Given the description of an element on the screen output the (x, y) to click on. 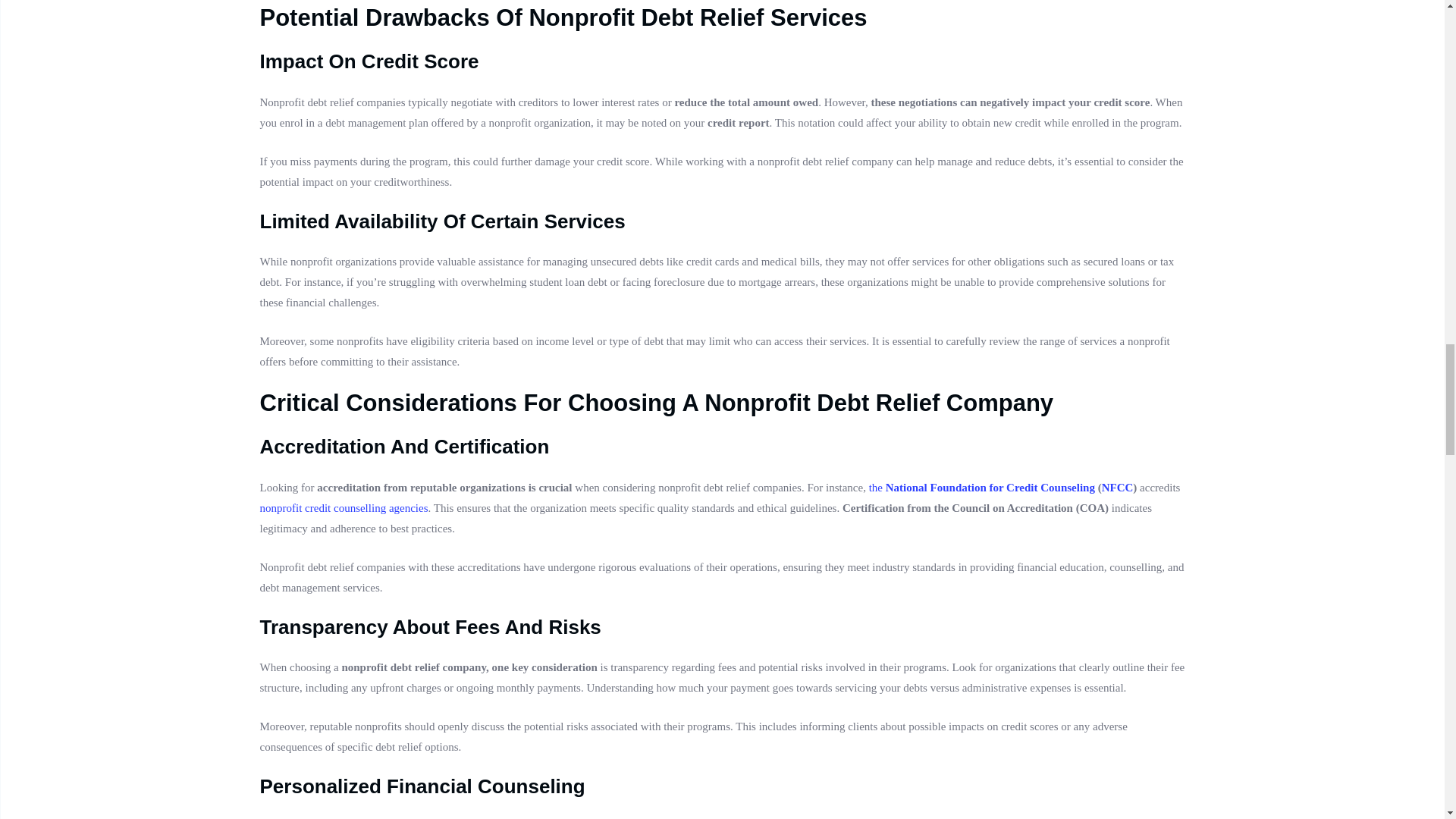
the (877, 487)
NFCC (1118, 487)
nonprofit credit counselling agencies (343, 508)
National Foundation for Credit Counseling (989, 487)
